Given the description of an element on the screen output the (x, y) to click on. 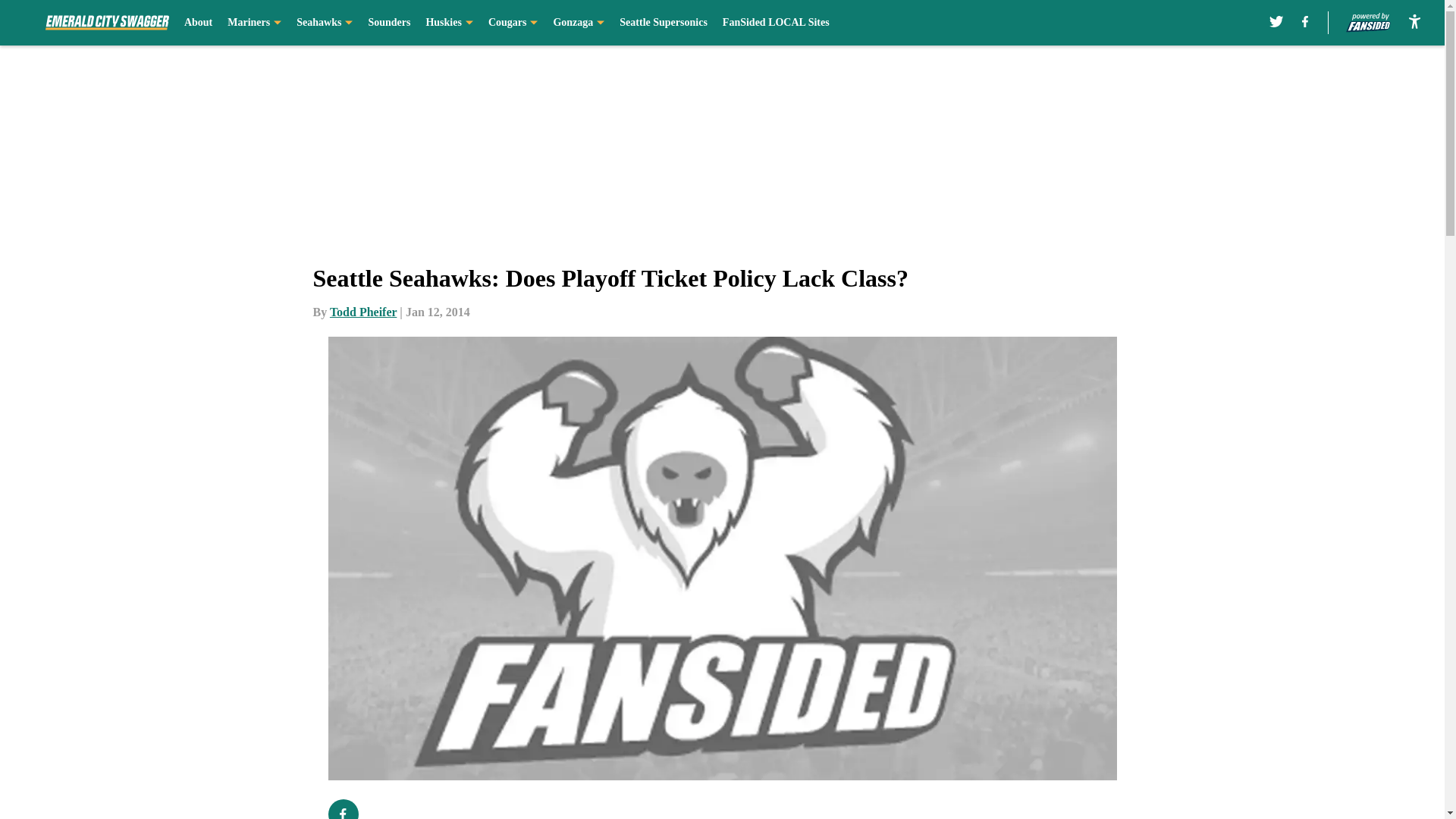
About (198, 22)
FanSided LOCAL Sites (775, 22)
Todd Pheifer (363, 311)
Sounders (389, 22)
Seattle Supersonics (663, 22)
